Given the description of an element on the screen output the (x, y) to click on. 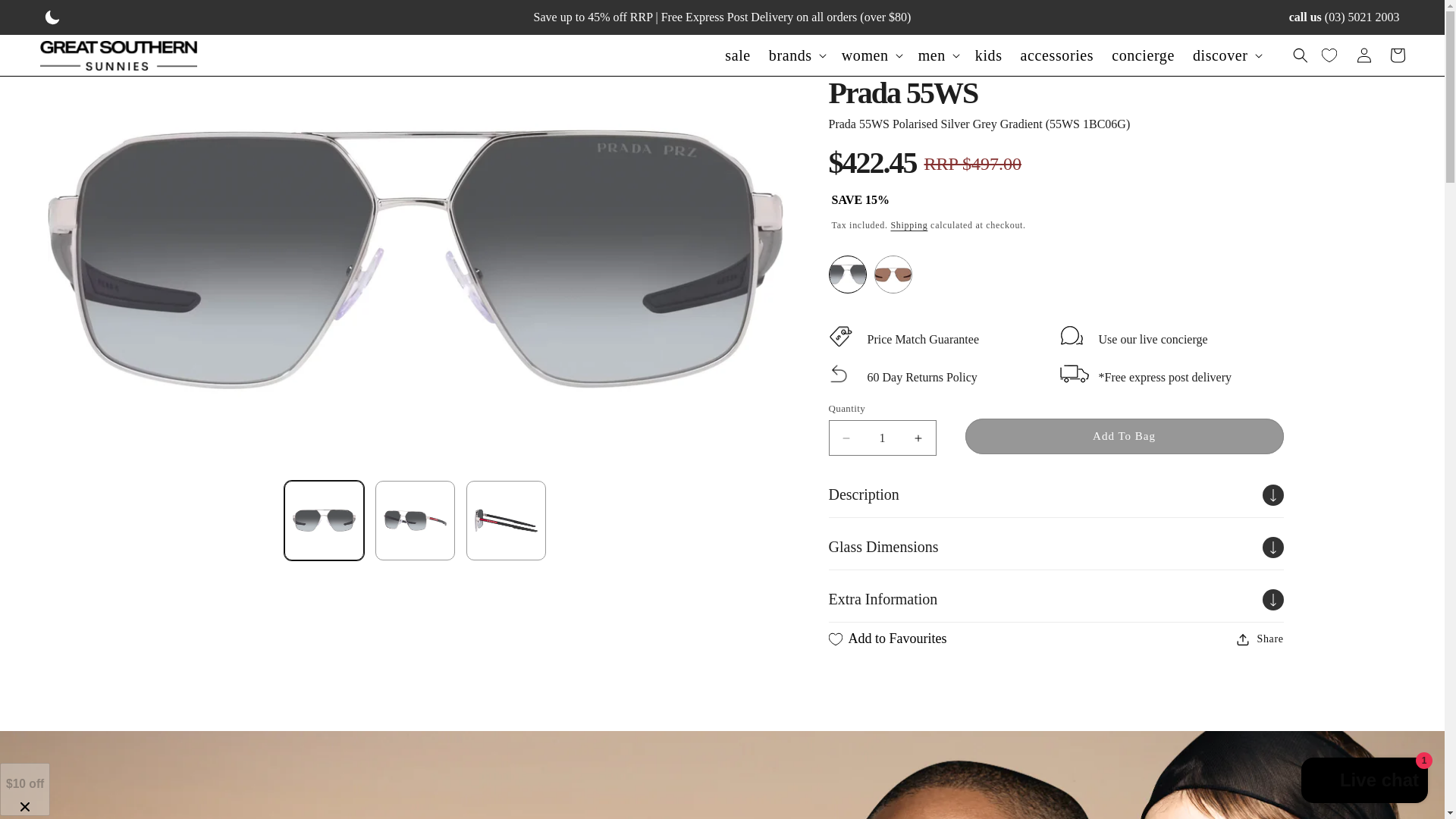
brands (790, 54)
Shopify online store chat (1364, 781)
Skip to content (45, 17)
sale (738, 55)
1 (882, 437)
